Given the description of an element on the screen output the (x, y) to click on. 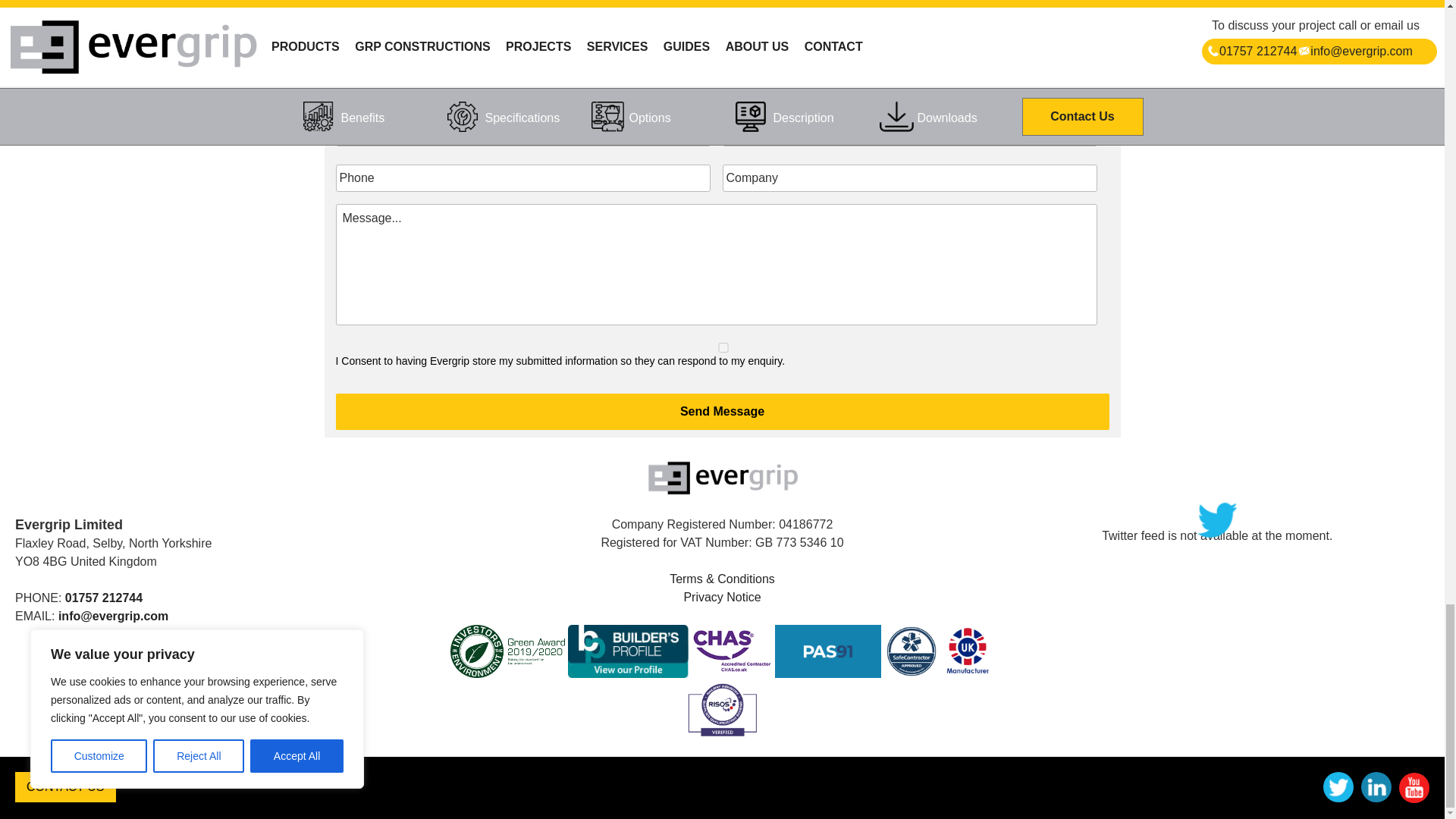
Send Message (721, 411)
